Given the description of an element on the screen output the (x, y) to click on. 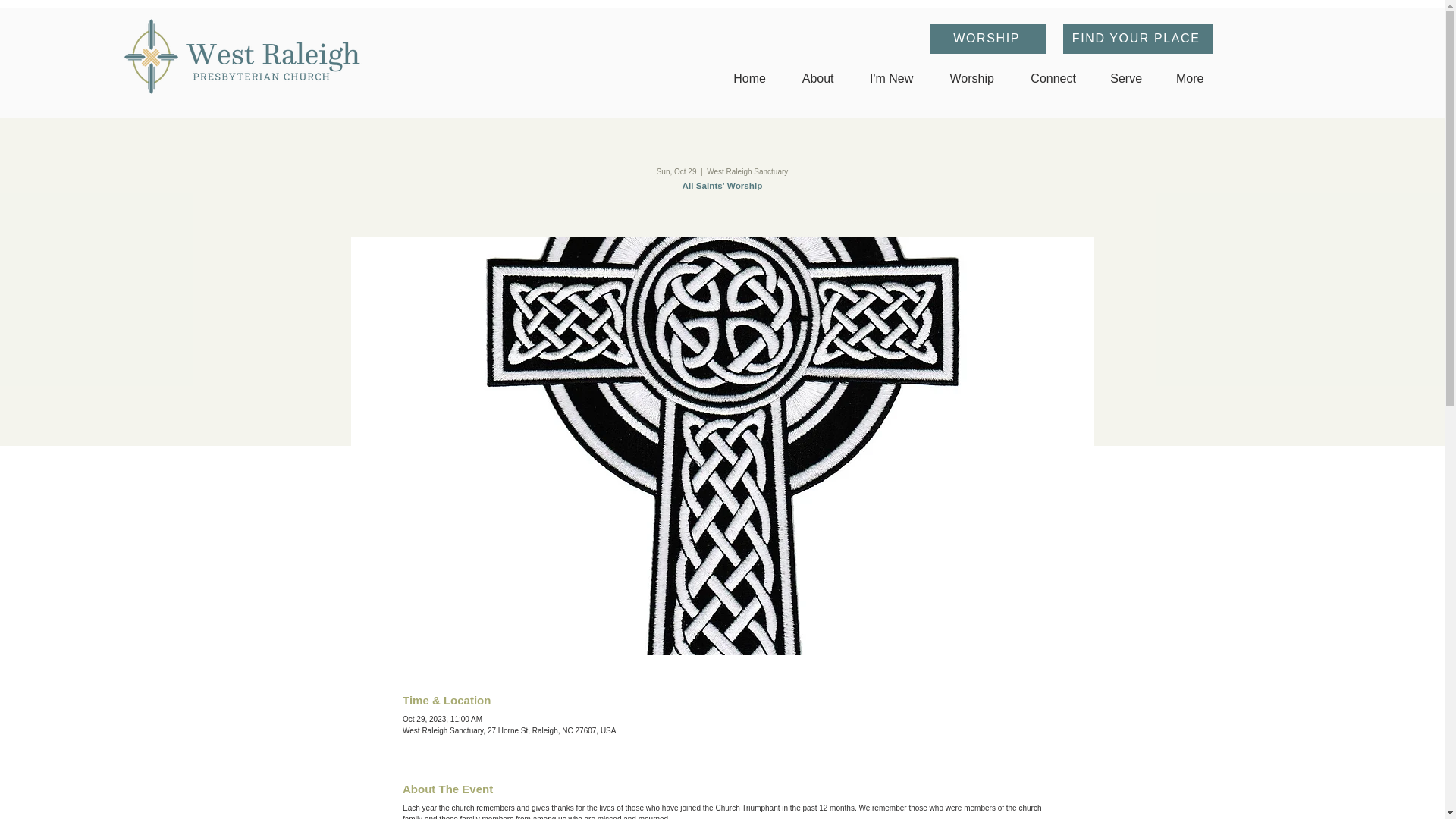
FIND YOUR PLACE (1137, 38)
Home (750, 78)
About (817, 78)
I'm New (891, 78)
WORSHIP (988, 38)
Worship (972, 78)
Serve (1126, 78)
Connect (1053, 78)
